Given the description of an element on the screen output the (x, y) to click on. 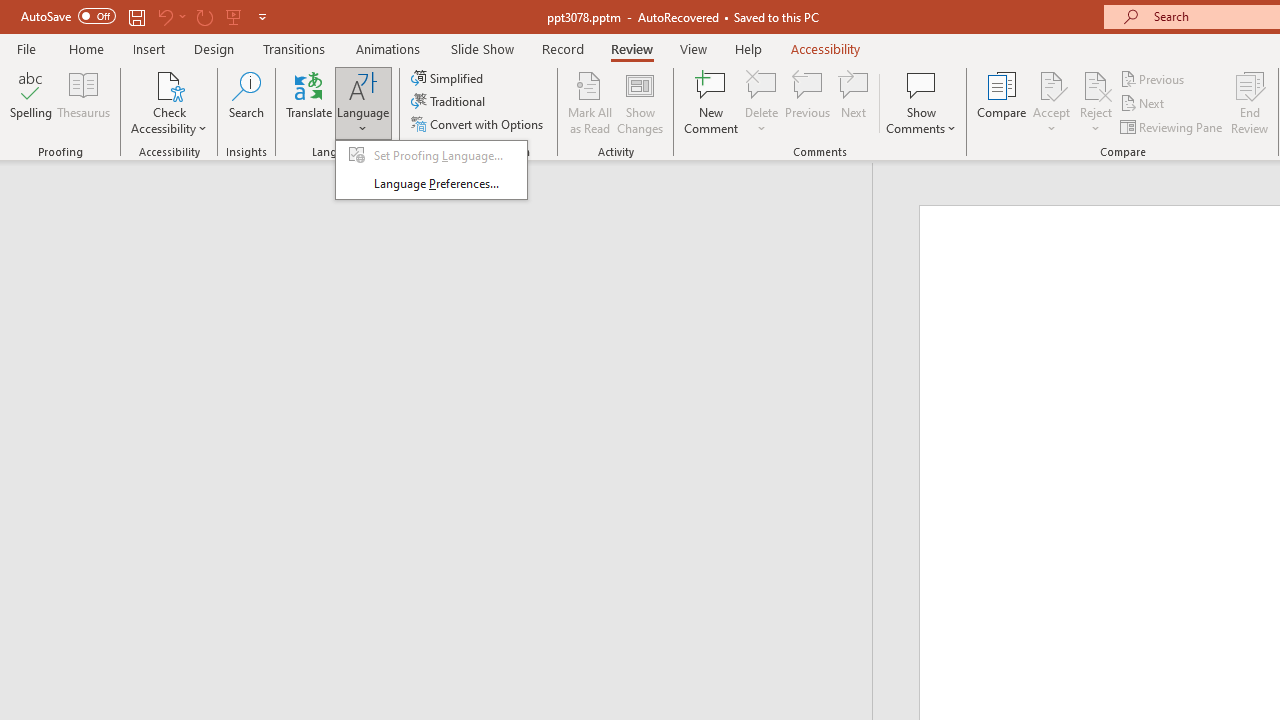
Mark All as Read (589, 102)
&Language (431, 169)
Accept (1051, 102)
Simplified (449, 78)
